Given the description of an element on the screen output the (x, y) to click on. 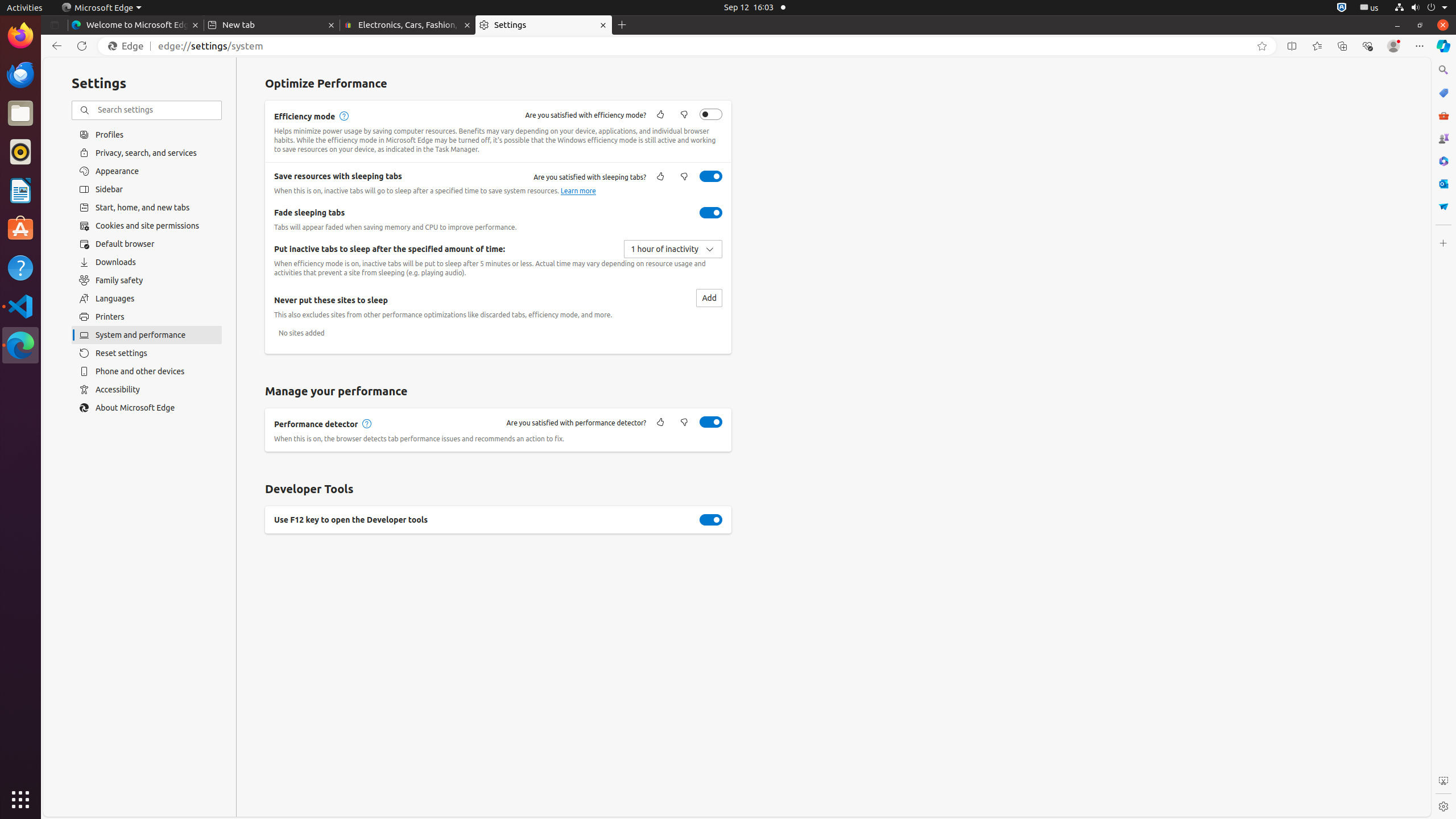
Family safety Element type: tree-item (146, 280)
Fade sleeping tabs Element type: check-box (710, 212)
Default browser Element type: tree-item (146, 243)
Search Element type: push-button (1443, 69)
Outlook Element type: push-button (1443, 183)
